Given the description of an element on the screen output the (x, y) to click on. 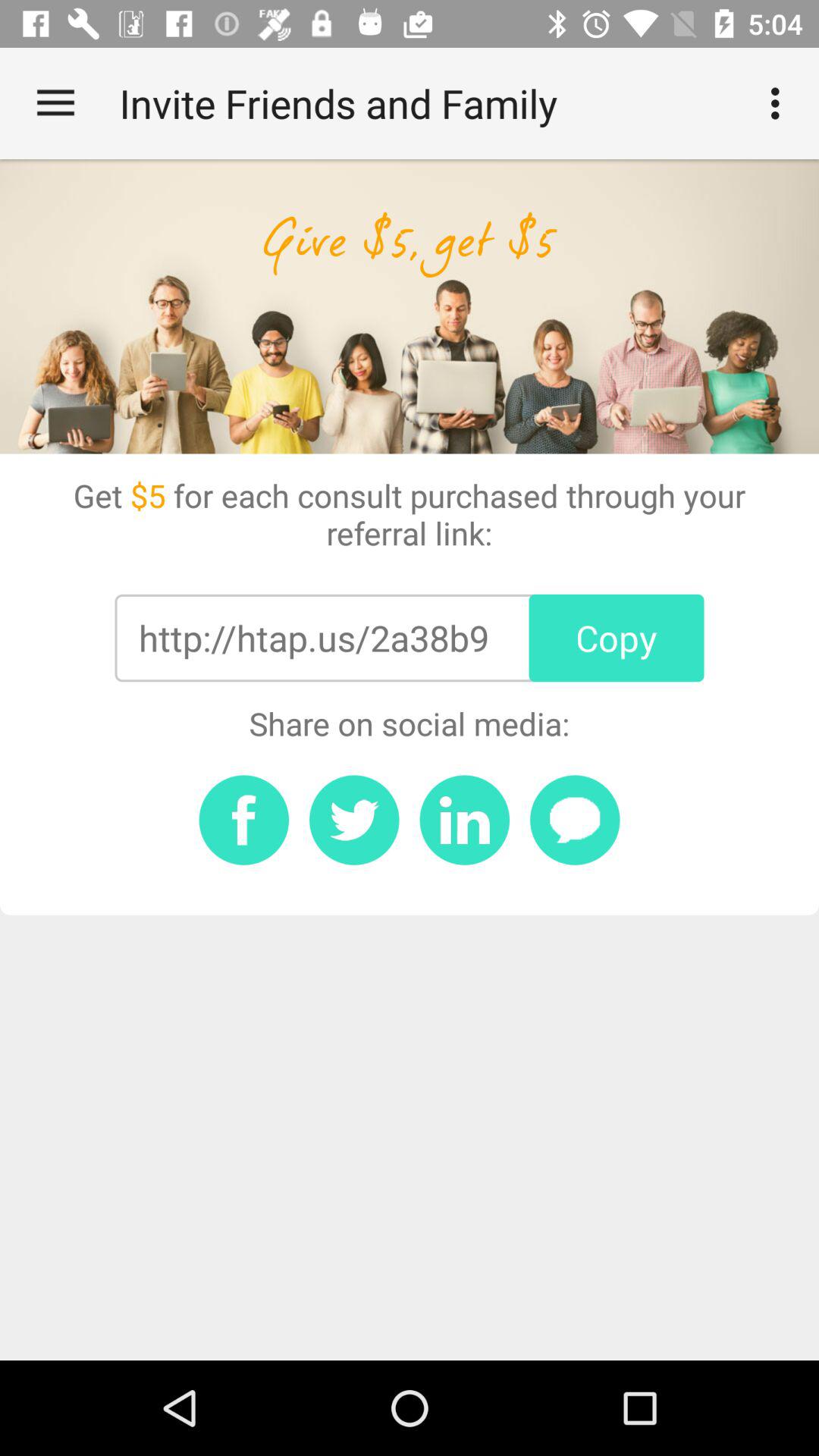
scroll to the copy (616, 637)
